Given the description of an element on the screen output the (x, y) to click on. 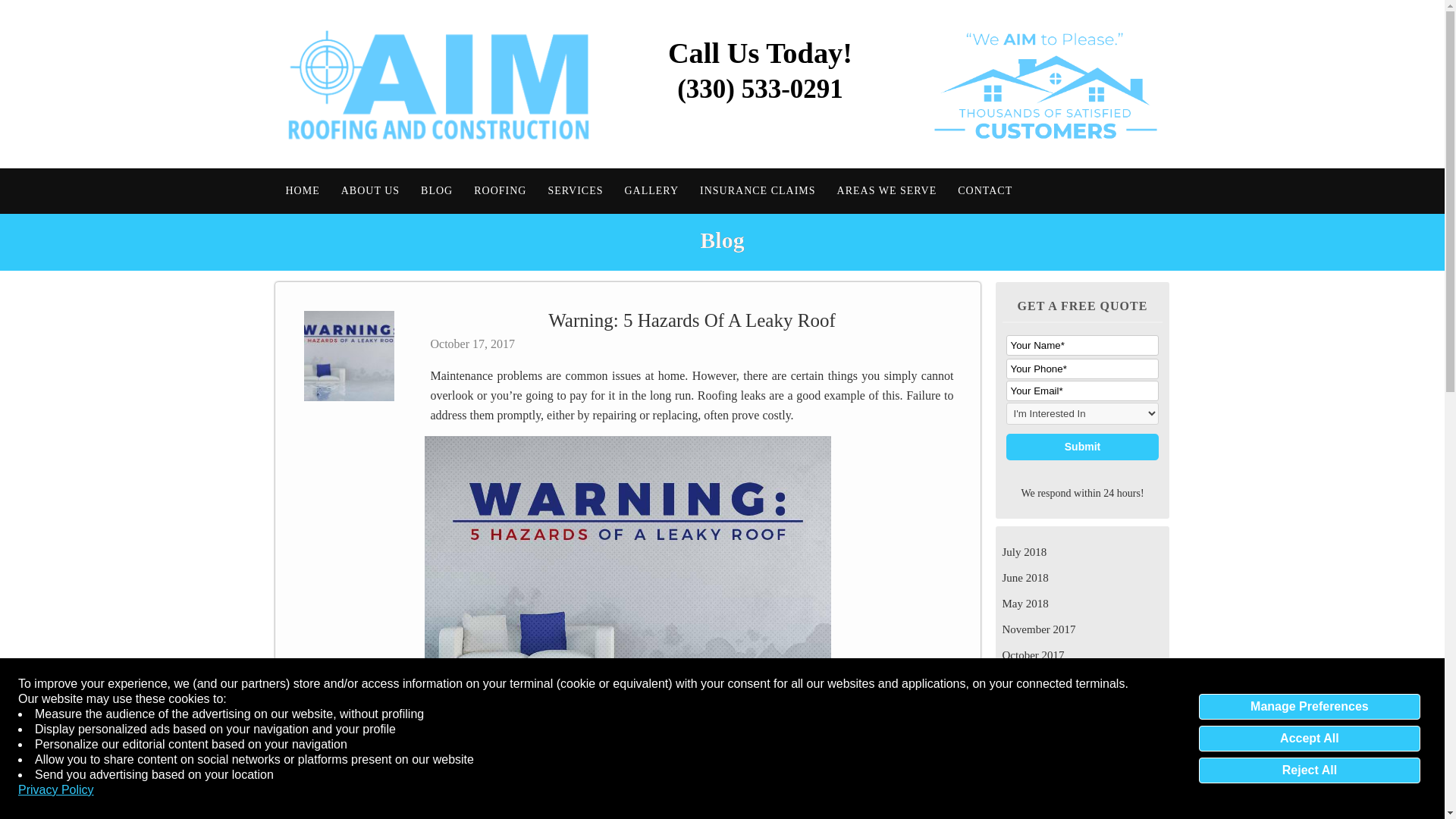
ABOUT US (370, 190)
Submit (1082, 447)
Warning: 5 Hazards Of A Leaky Roof (628, 585)
GALLERY (650, 190)
INSURANCE CLAIMS (757, 190)
July 2018 (1083, 551)
June 2018 (1083, 577)
Privacy Policy (55, 789)
CONTACT (985, 190)
AREAS WE SERVE (887, 190)
ROOFING (500, 190)
May 2018 (1083, 603)
HOME (302, 190)
Submit (1082, 447)
Reject All (1309, 769)
